Given the description of an element on the screen output the (x, y) to click on. 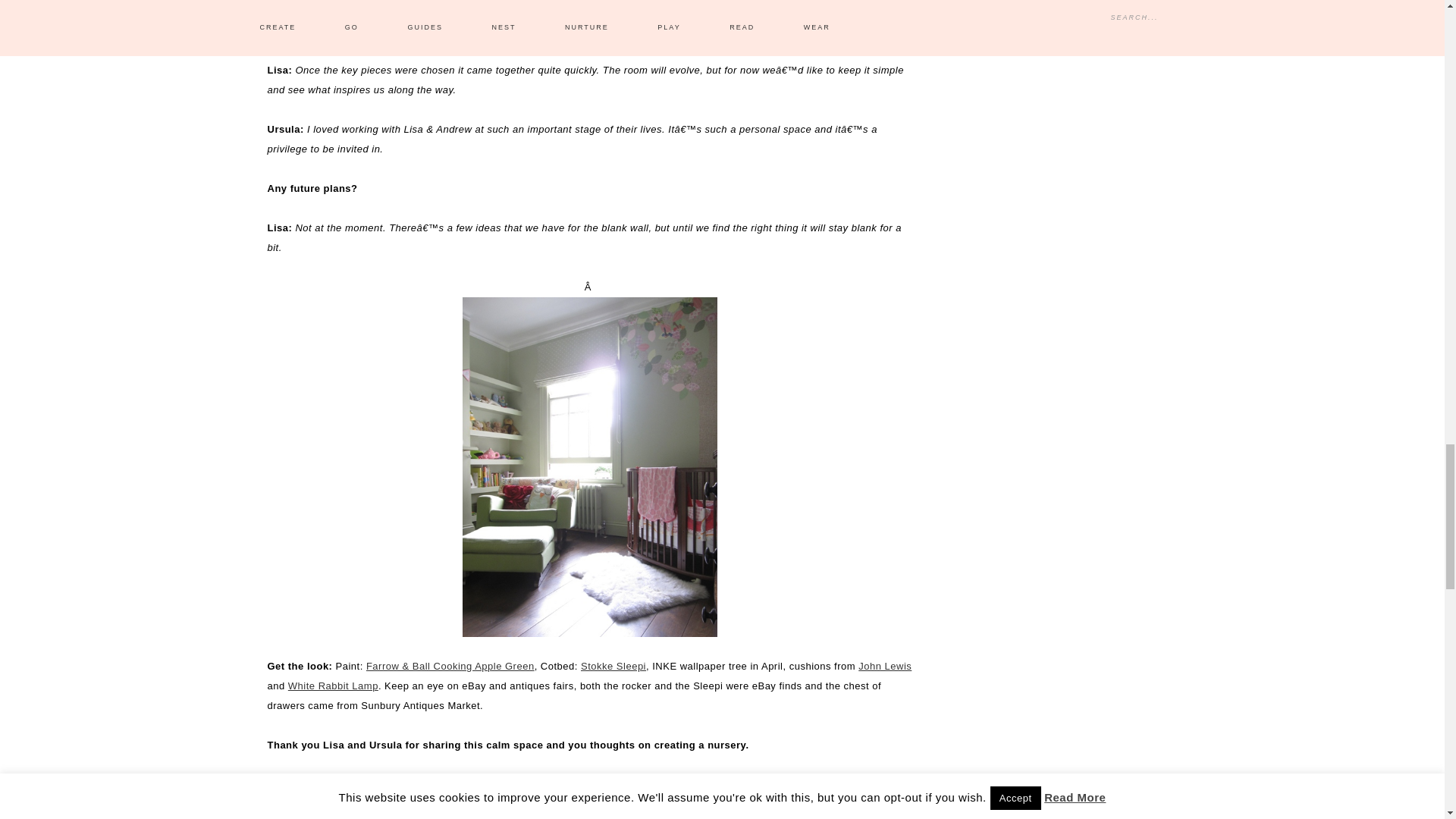
White Rabbit Lamp from White Rabbit England (333, 685)
Stokke Sleepi (613, 665)
John Lewis Cushions (885, 665)
